Given the description of an element on the screen output the (x, y) to click on. 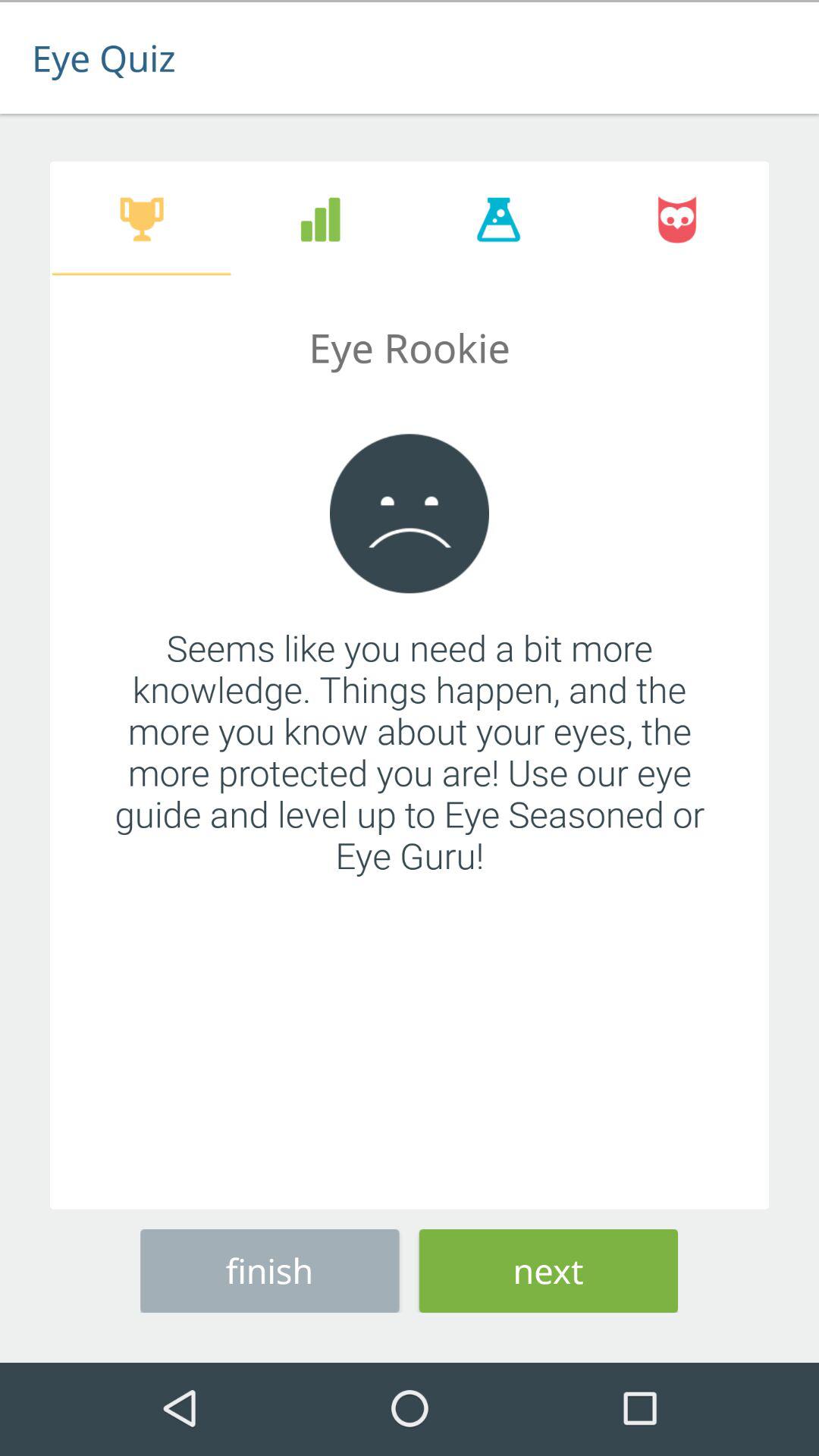
select item to the left of next (269, 1268)
